Given the description of an element on the screen output the (x, y) to click on. 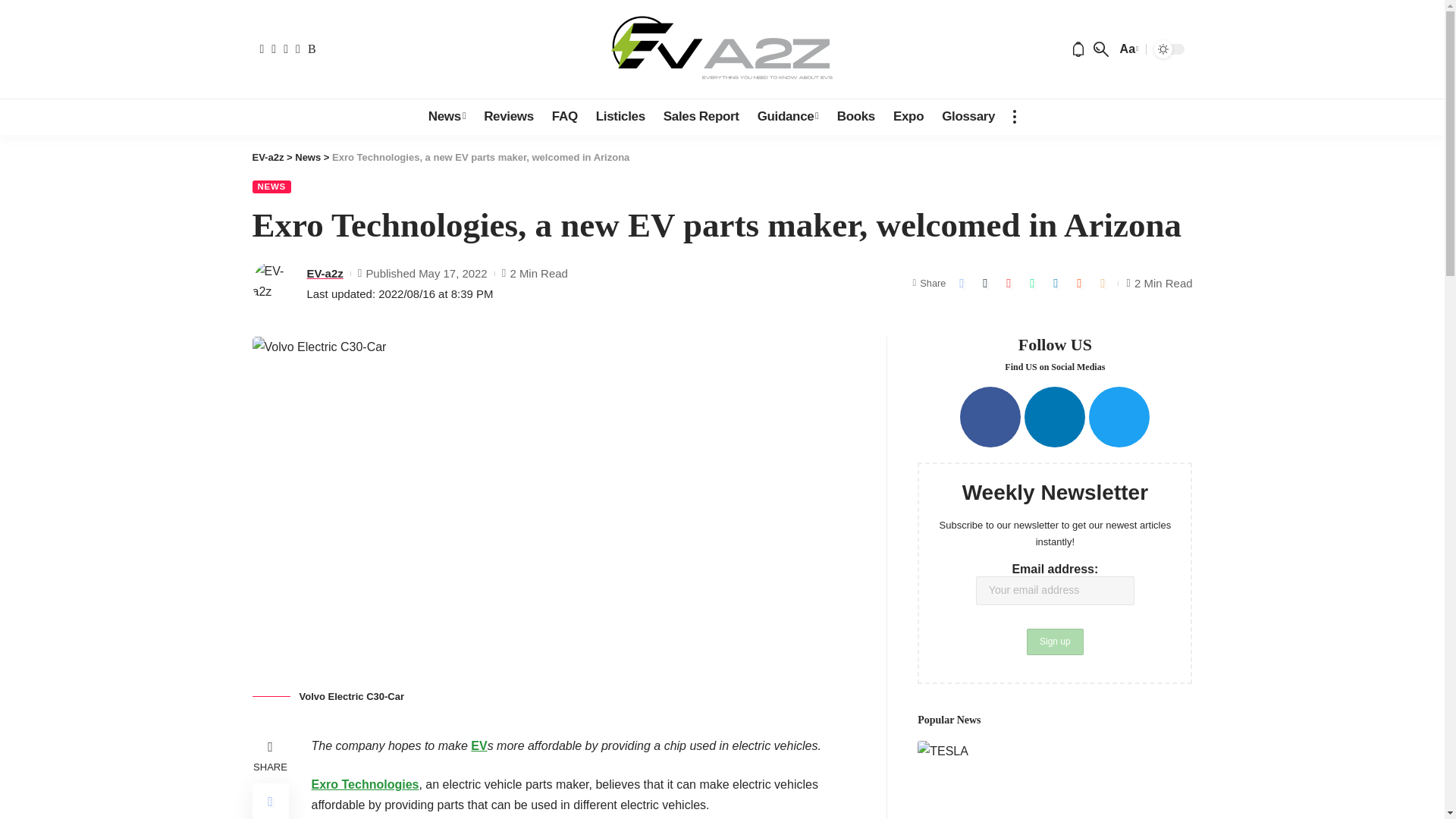
News (446, 116)
Sign up (1054, 641)
Go to EV-a2z. (267, 156)
EV-a2z (721, 48)
Aa (1127, 48)
Tesla loses Dojo project lead amid self-driving tech push (1054, 780)
Go to the News Category archives. (307, 156)
